Given the description of an element on the screen output the (x, y) to click on. 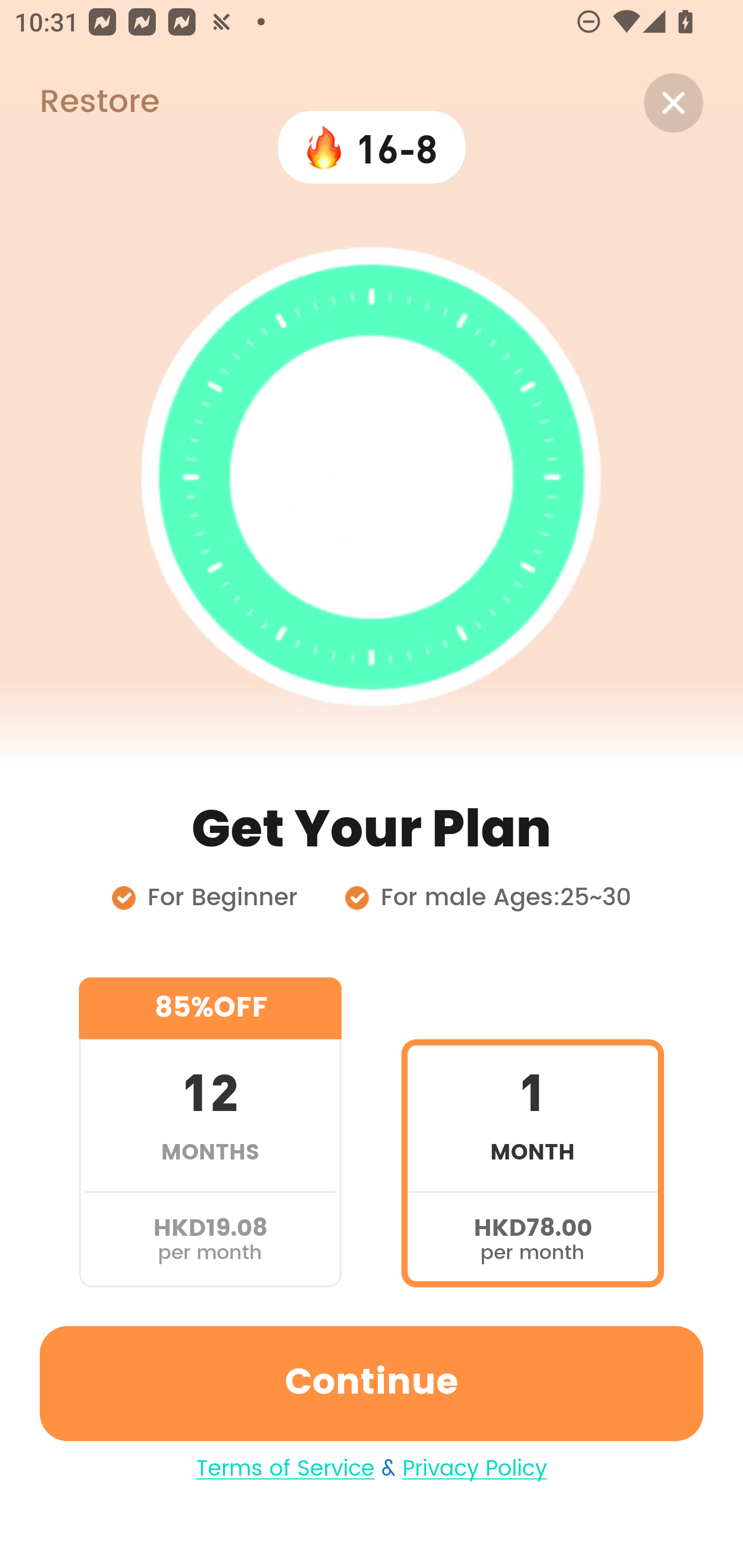
Restore (79, 102)
85%OFF 12 MONTHS per month HKD19.08 (209, 1131)
1 MONTH per month HKD78.00 (532, 1131)
Continue (371, 1383)
